Given the description of an element on the screen output the (x, y) to click on. 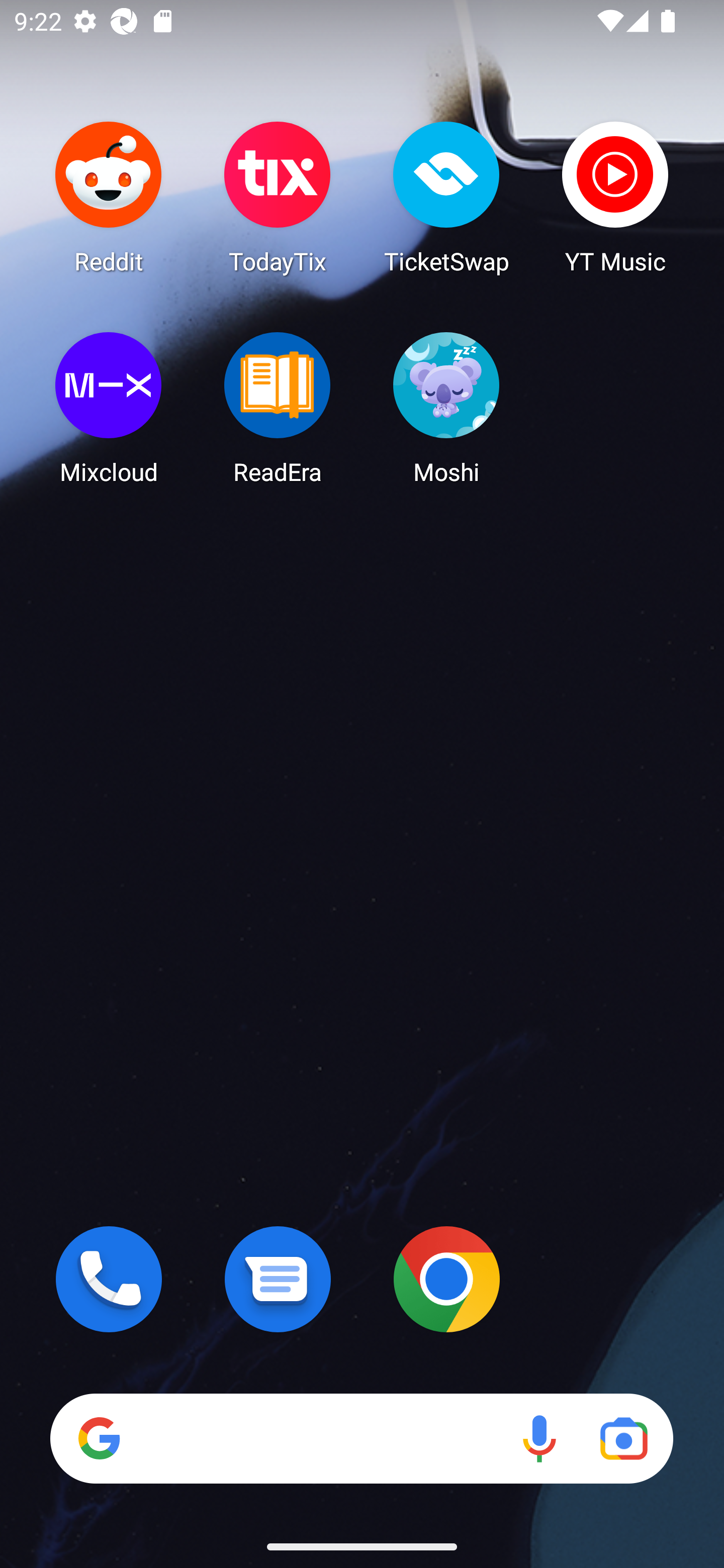
Reddit (108, 196)
TodayTix (277, 196)
TicketSwap (445, 196)
YT Music (615, 196)
Mixcloud (108, 407)
ReadEra (277, 407)
Moshi (445, 407)
Phone (108, 1279)
Messages (277, 1279)
Chrome (446, 1279)
Voice search (539, 1438)
Google Lens (623, 1438)
